Given the description of an element on the screen output the (x, y) to click on. 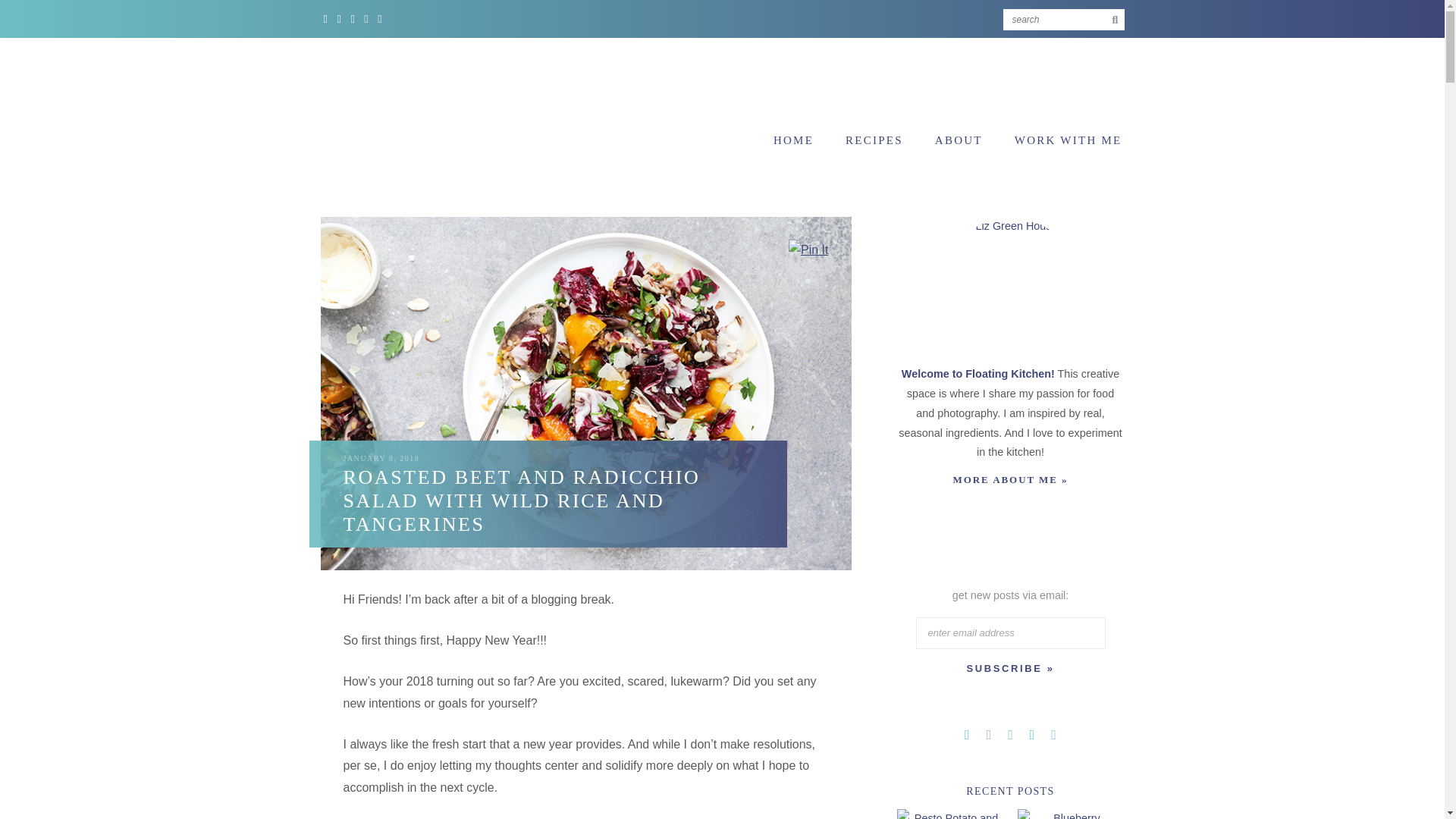
WORK WITH ME (1068, 139)
RECIPES (874, 139)
HOME (793, 139)
ABOUT (958, 139)
Pin It (808, 250)
